Given the description of an element on the screen output the (x, y) to click on. 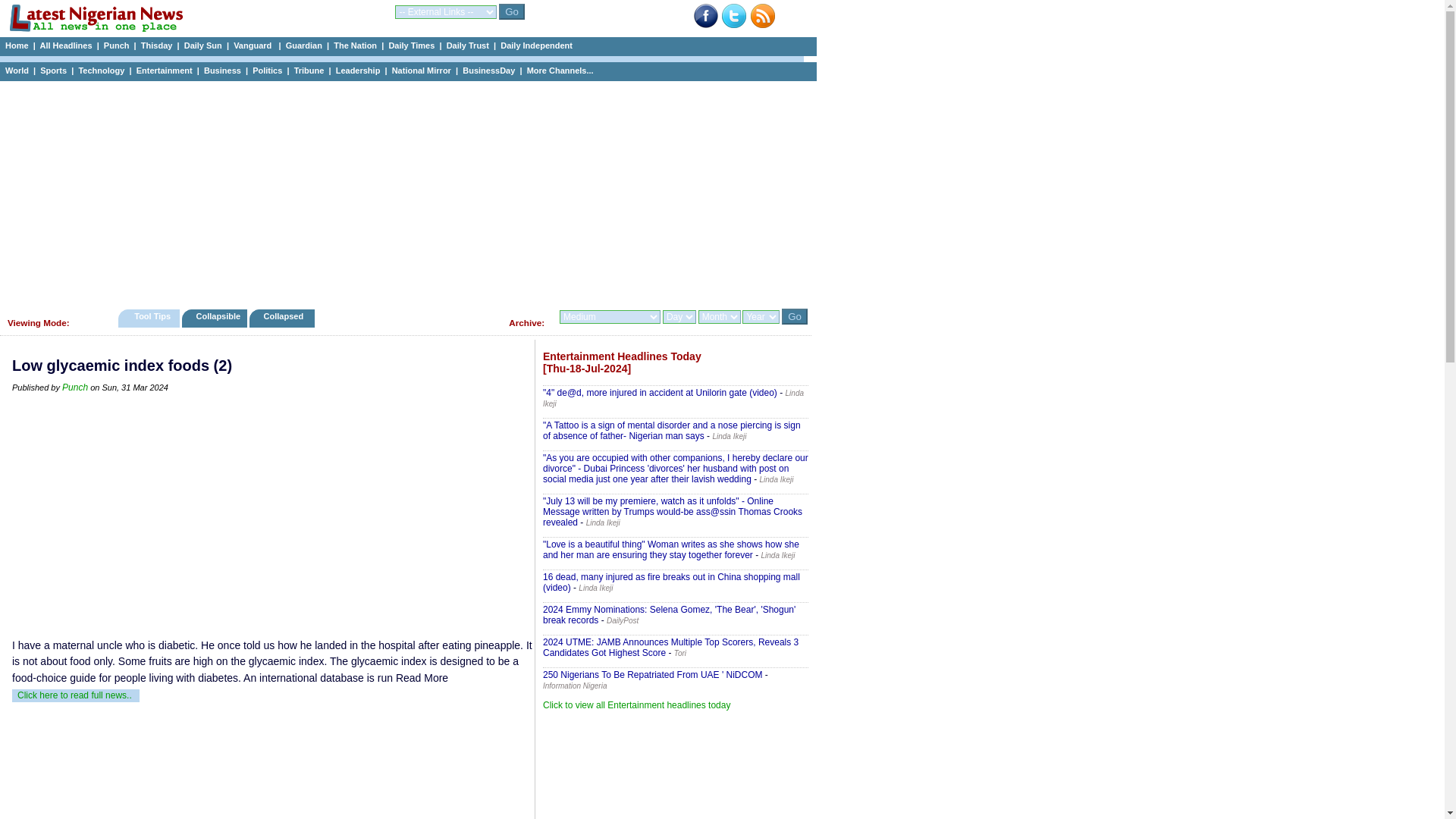
RSS Feed for this page: allnews headlines (762, 25)
Business (222, 70)
The Nation (355, 44)
Advertisement (272, 514)
Guardian (303, 44)
More Channels... (560, 70)
Advertisement (675, 770)
   Collapsible    (213, 318)
All Headlines (65, 44)
Linda Ikeji (728, 436)
Punch (116, 44)
Politics (266, 70)
Go (794, 316)
Daily Times (410, 44)
